Given the description of an element on the screen output the (x, y) to click on. 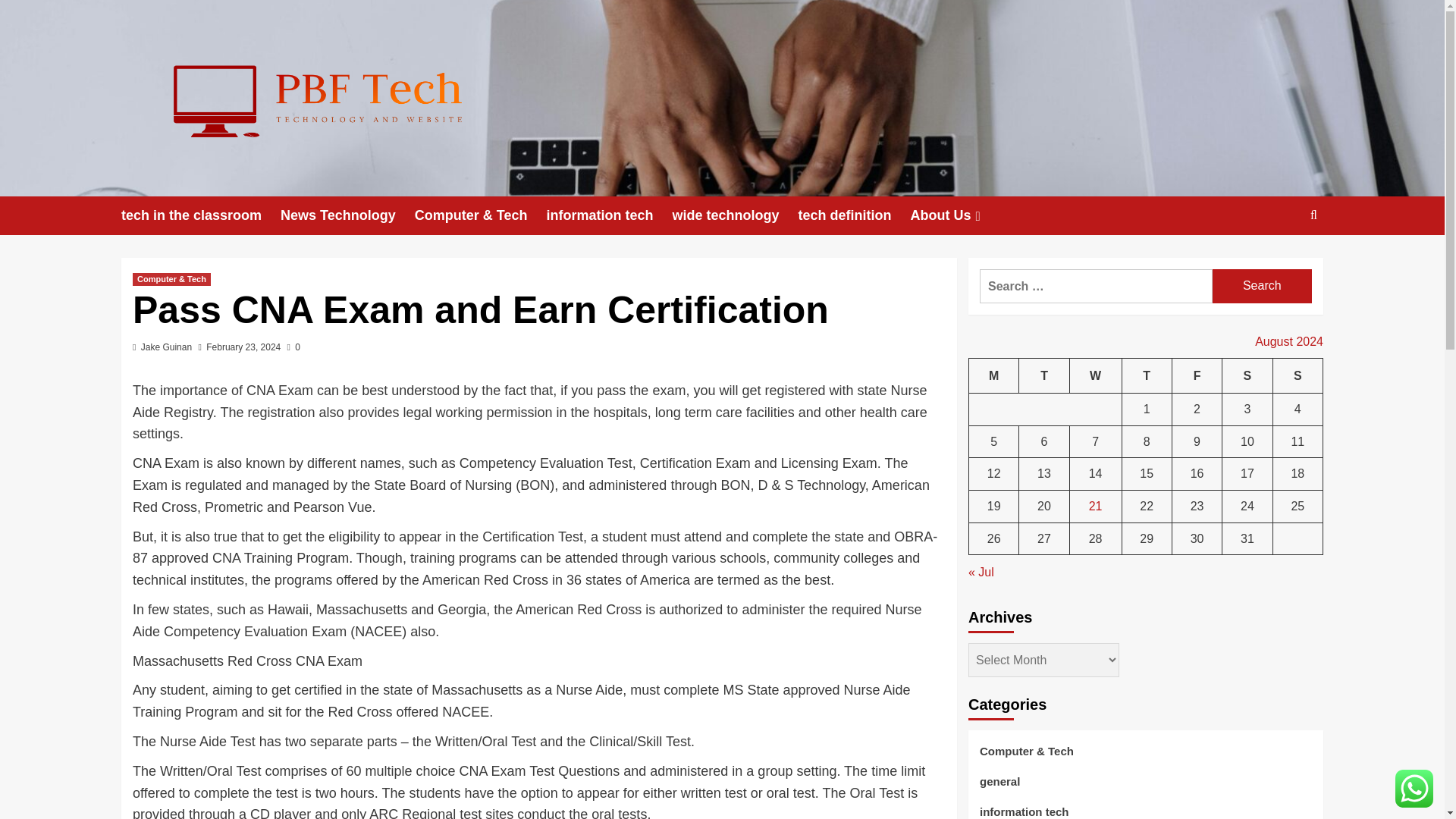
About Us (956, 215)
Wednesday (1094, 375)
tech in the classroom (200, 215)
wide technology (734, 215)
Tuesday (1043, 375)
Jake Guinan (166, 347)
Search (1278, 261)
Monday (994, 375)
News Technology (347, 215)
tech definition (853, 215)
